Given the description of an element on the screen output the (x, y) to click on. 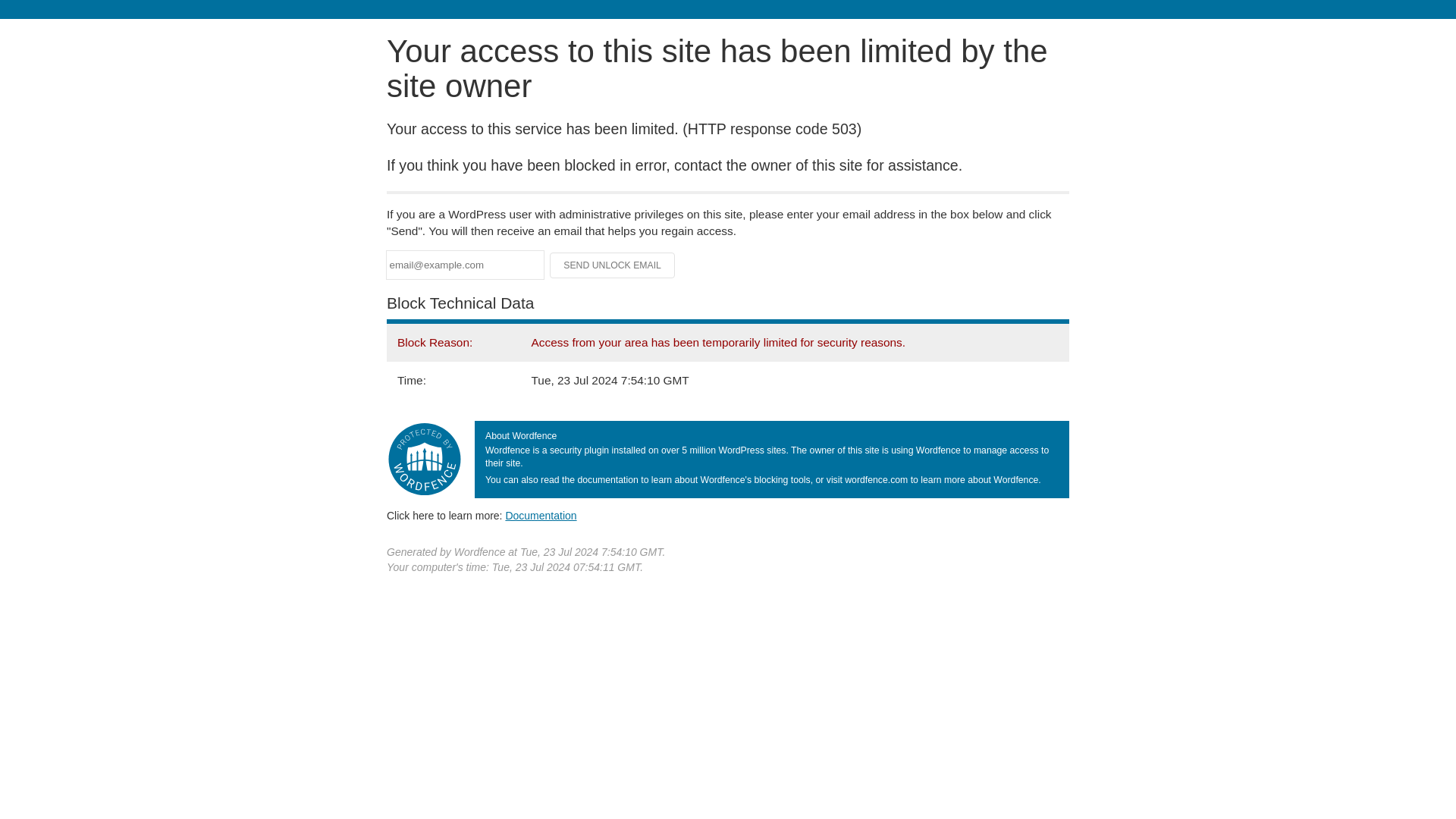
Send Unlock Email (612, 265)
Documentation (540, 515)
Send Unlock Email (612, 265)
